Given the description of an element on the screen output the (x, y) to click on. 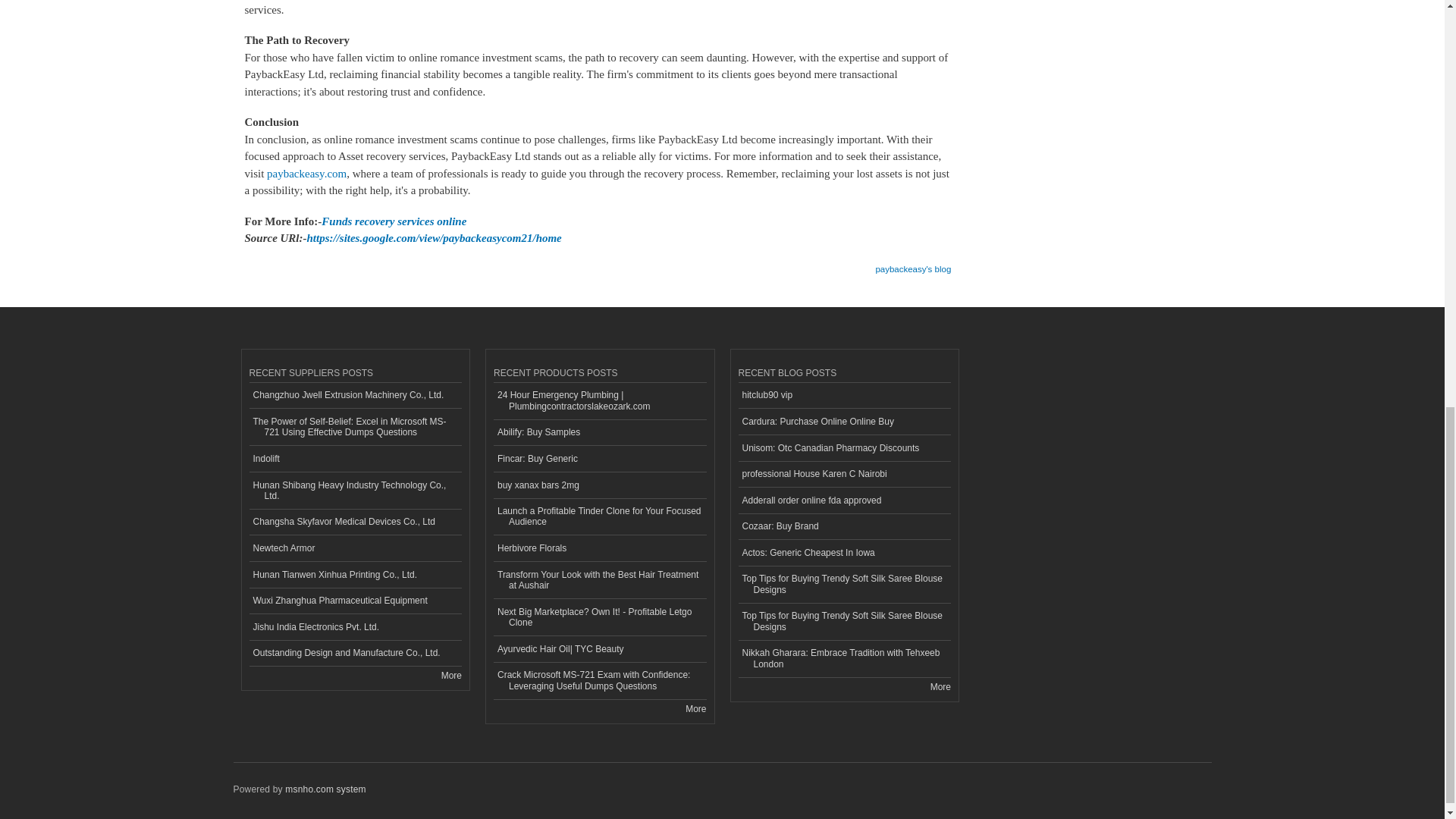
Hunan Tianwen Xinhua Printing Co., Ltd. (354, 574)
paybackeasy's blog (912, 263)
Hunan Shibang Heavy Industry Technology Co., Ltd. (354, 490)
More (451, 675)
Jishu India Electronics Pvt. Ltd. (354, 627)
Newtech Armor (354, 548)
Changsha Skyfavor Medical Devices Co., Ltd (354, 522)
Abilify: Buy Samples (599, 433)
Changzhuo Jwell Extrusion Machinery Co., Ltd. (354, 396)
Read the latest suppliers entries. (451, 675)
Read the latest blog entries. (940, 686)
Fincar: Buy Generic (599, 458)
Funds recovery services online (393, 221)
paybackeasy.com (306, 173)
Indolift (354, 458)
